Given the description of an element on the screen output the (x, y) to click on. 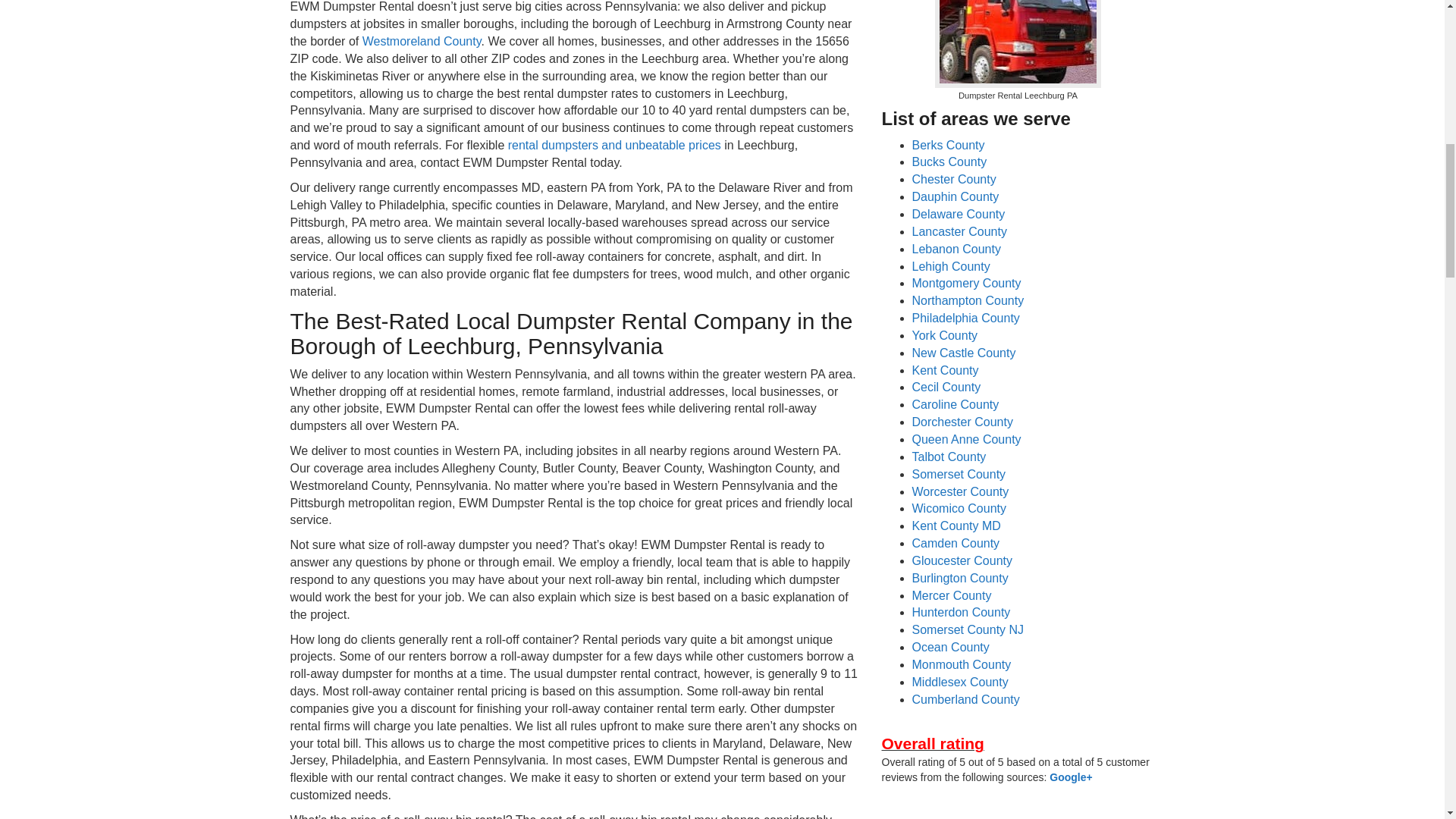
New Castle County (962, 352)
Philadelphia County (965, 318)
Kent County (944, 369)
Montgomery County (965, 282)
Westmoreland County (421, 41)
Lebanon County (955, 248)
Cecil County (945, 386)
Caroline County (954, 404)
rental dumpsters and unbeatable prices (614, 144)
Lancaster County (958, 231)
